Given the description of an element on the screen output the (x, y) to click on. 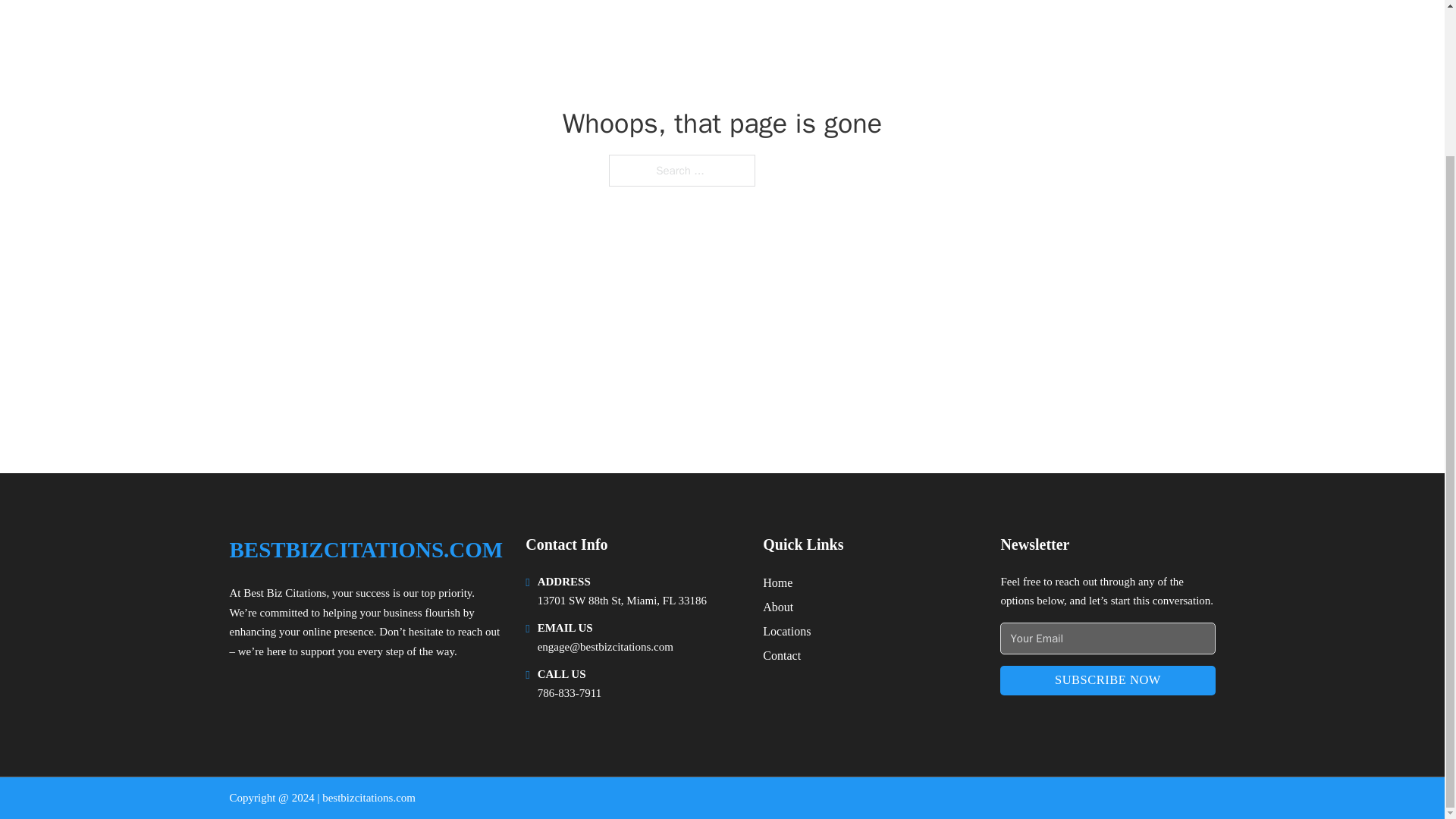
Home (777, 582)
About (777, 607)
786-833-7911 (569, 693)
Contact (781, 655)
Locations (786, 630)
SUBSCRIBE NOW (1107, 680)
BESTBIZCITATIONS.COM (365, 549)
